Given the description of an element on the screen output the (x, y) to click on. 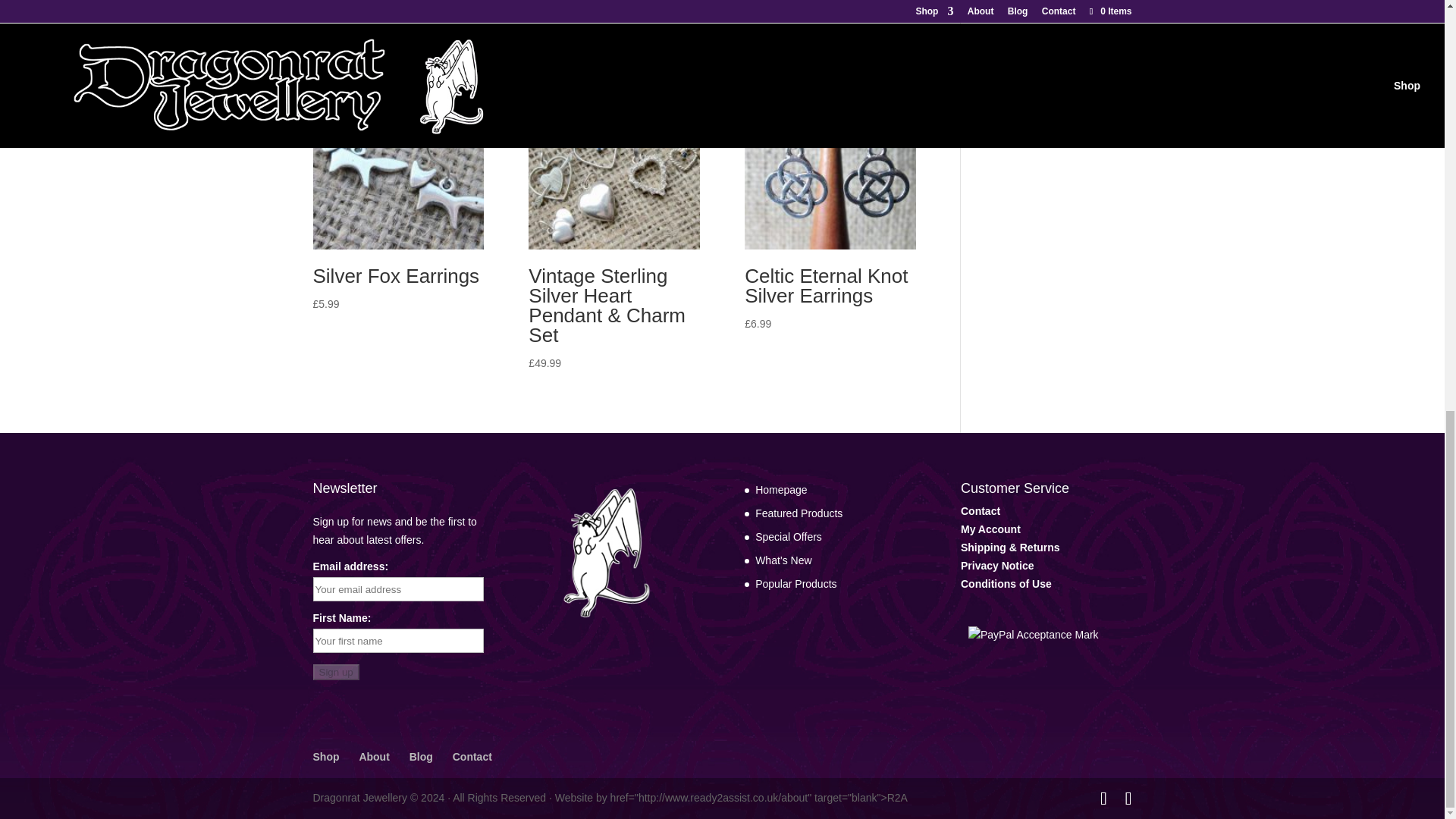
How PayPal Works (1033, 634)
Sign up (335, 672)
